Given the description of an element on the screen output the (x, y) to click on. 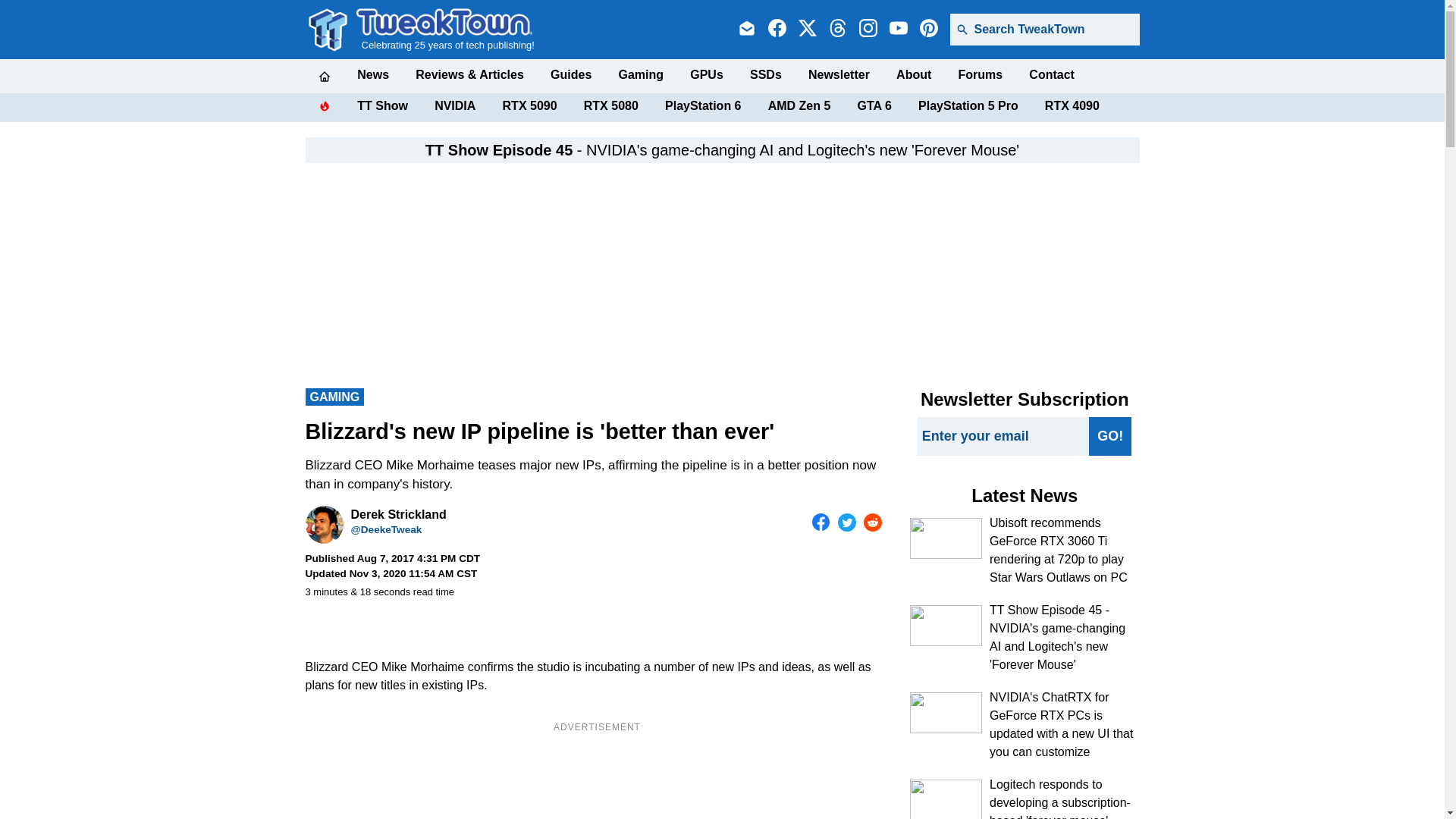
Celebrating 25 years of tech publishing! (445, 29)
GO! (1110, 435)
Share on Reddit (871, 522)
News (372, 74)
Share on Twitter (846, 522)
Derek Strickland (323, 524)
Share on Facebook (819, 522)
